Given the description of an element on the screen output the (x, y) to click on. 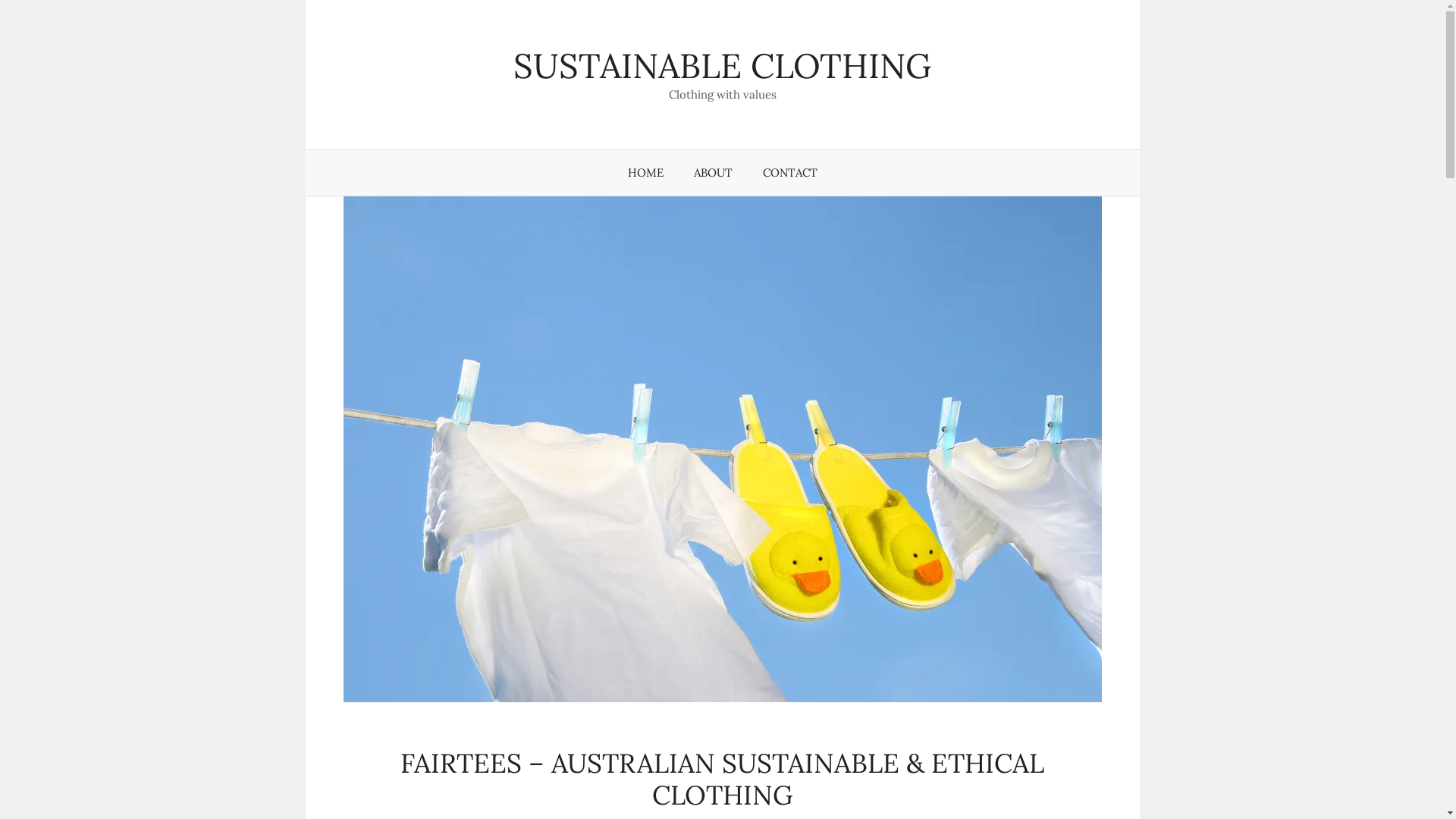
SUSTAINABLE CLOTHING Element type: text (722, 65)
CONTACT Element type: text (789, 172)
HOME Element type: text (645, 172)
ABOUT Element type: text (711, 172)
